Given the description of an element on the screen output the (x, y) to click on. 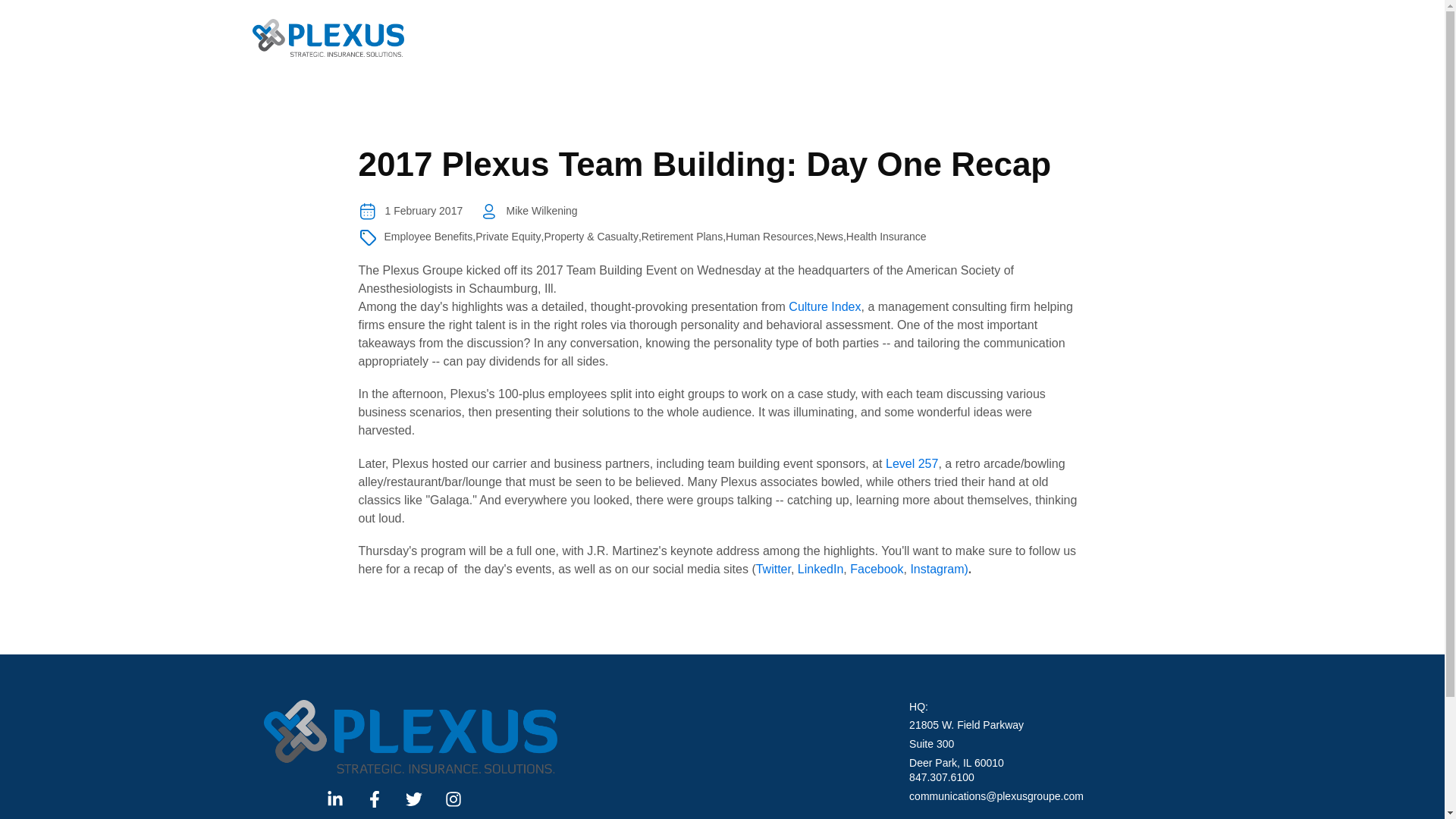
News (829, 237)
Level 257 (911, 463)
Employee Benefits (427, 237)
Private Equity (508, 237)
Health Insurance (885, 237)
Culture Index (824, 306)
The Plexus Groupe (327, 37)
Twitter (772, 568)
The Plexus Groupe (410, 736)
Mike Wilkening (551, 211)
